Given the description of an element on the screen output the (x, y) to click on. 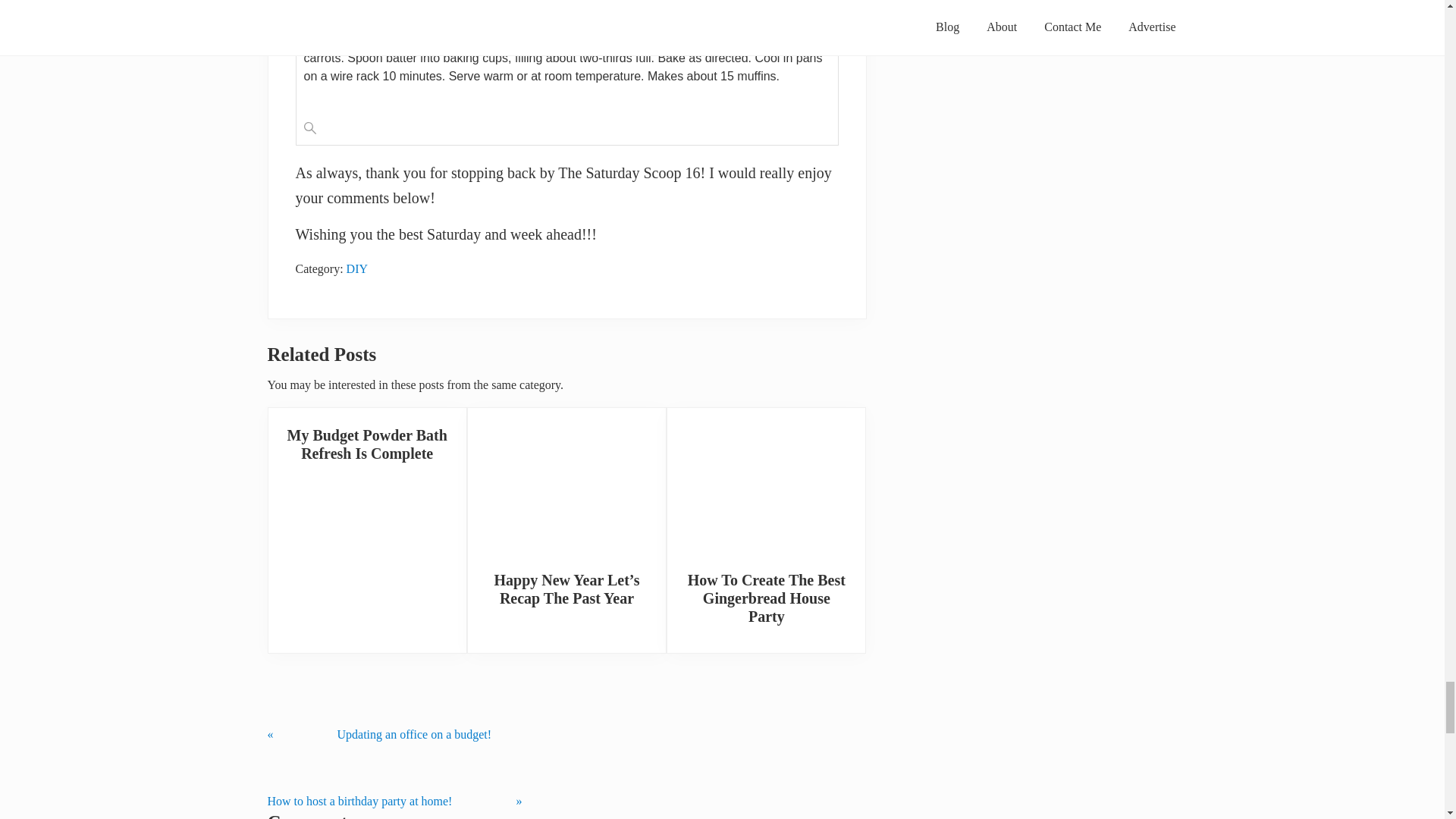
How To Create The Best Gingerbread House Party (766, 482)
How To Create The Best Gingerbread House Party (766, 597)
My Budget Powder Bath Refresh Is Complete (366, 443)
